Given the description of an element on the screen output the (x, y) to click on. 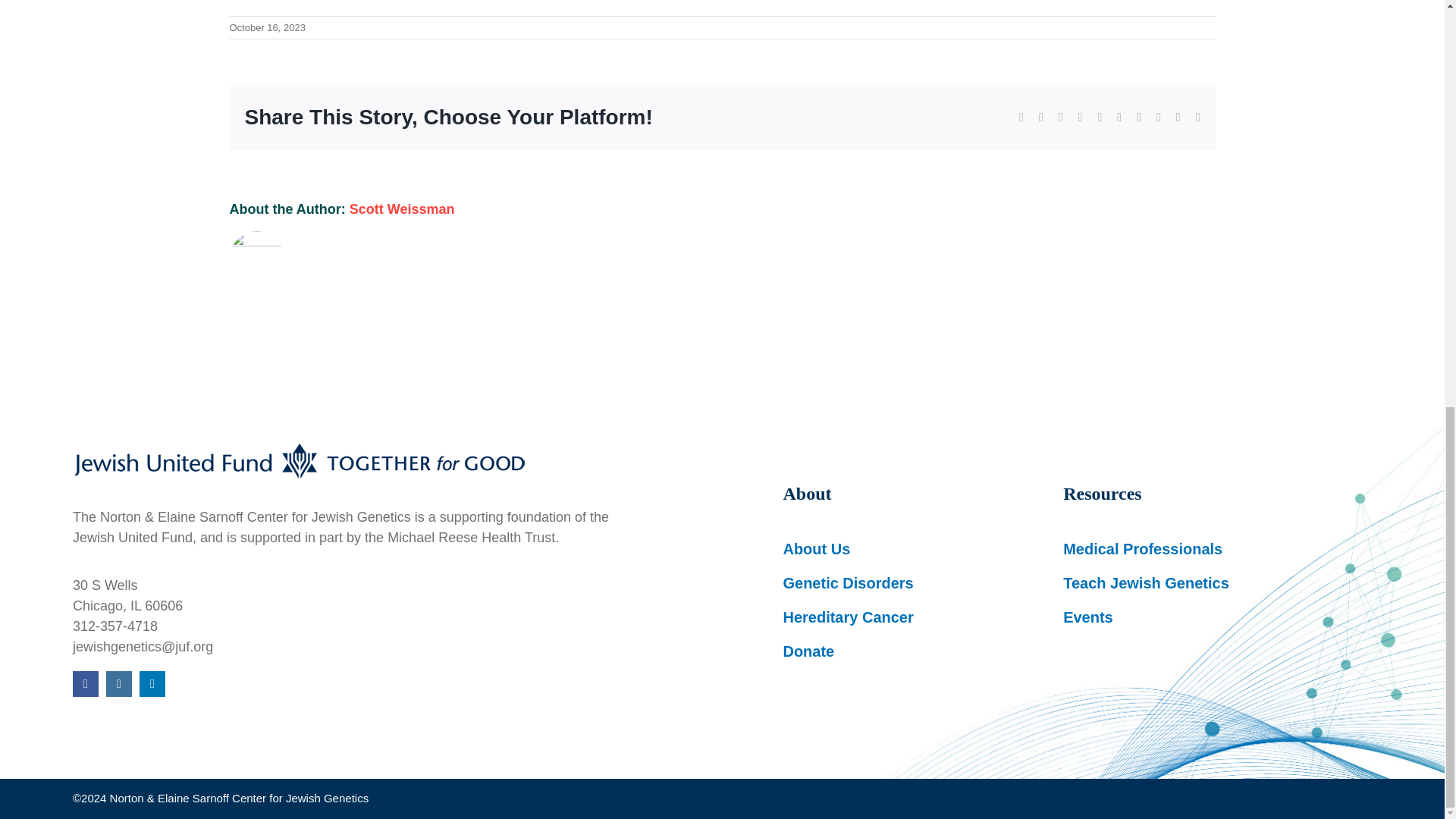
Posts by Scott Weissman (401, 209)
jewishunitedfund-logo (299, 460)
